Given the description of an element on the screen output the (x, y) to click on. 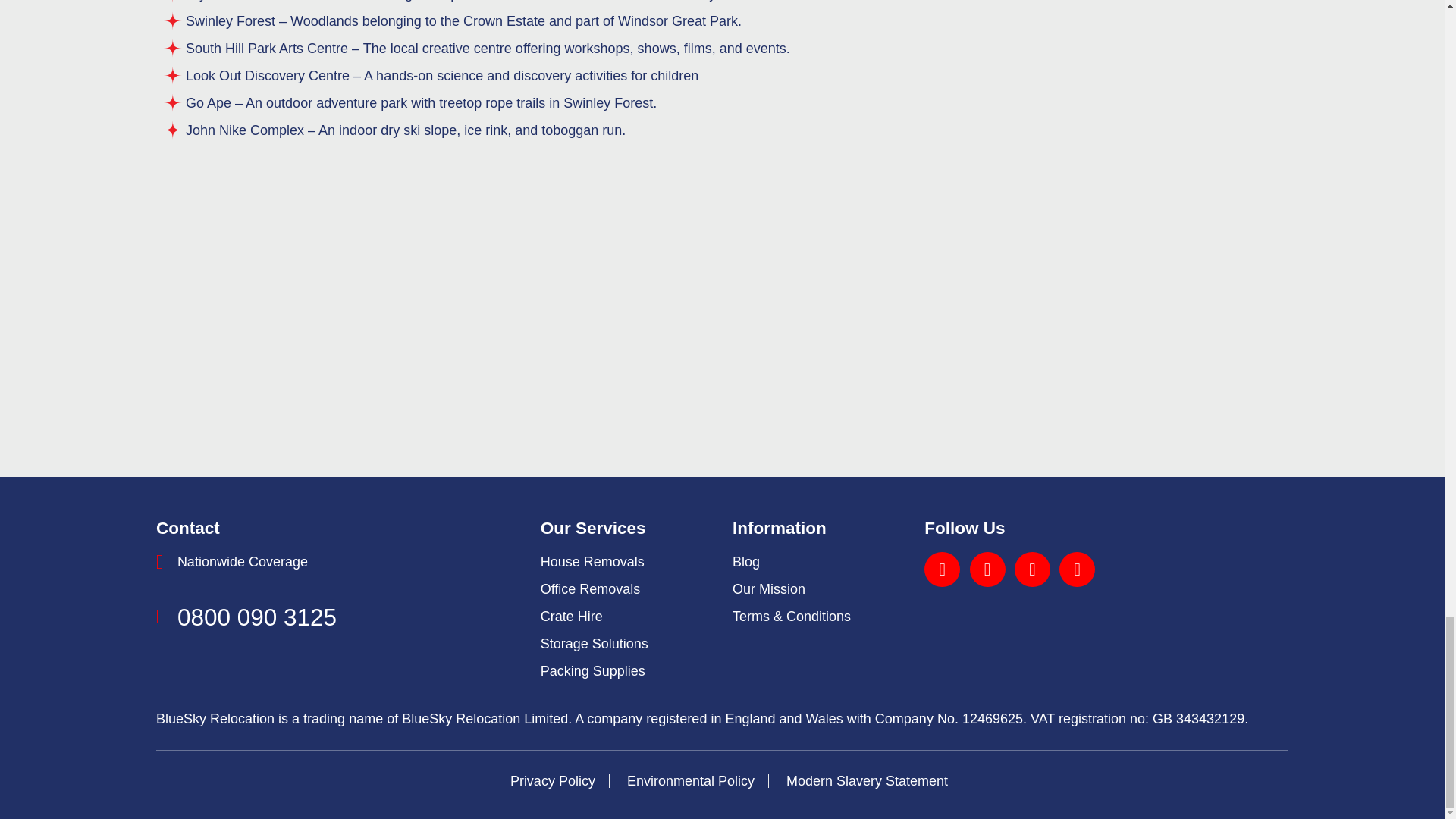
Privacy Policy (553, 780)
Crate Hire (571, 616)
Packing Supplies (592, 670)
Our Mission (768, 589)
House Removals (592, 561)
Blog (746, 561)
0800 090 3125 (256, 616)
Environmental Policy (690, 780)
Storage Solutions (593, 643)
Office Removals (590, 589)
